Given the description of an element on the screen output the (x, y) to click on. 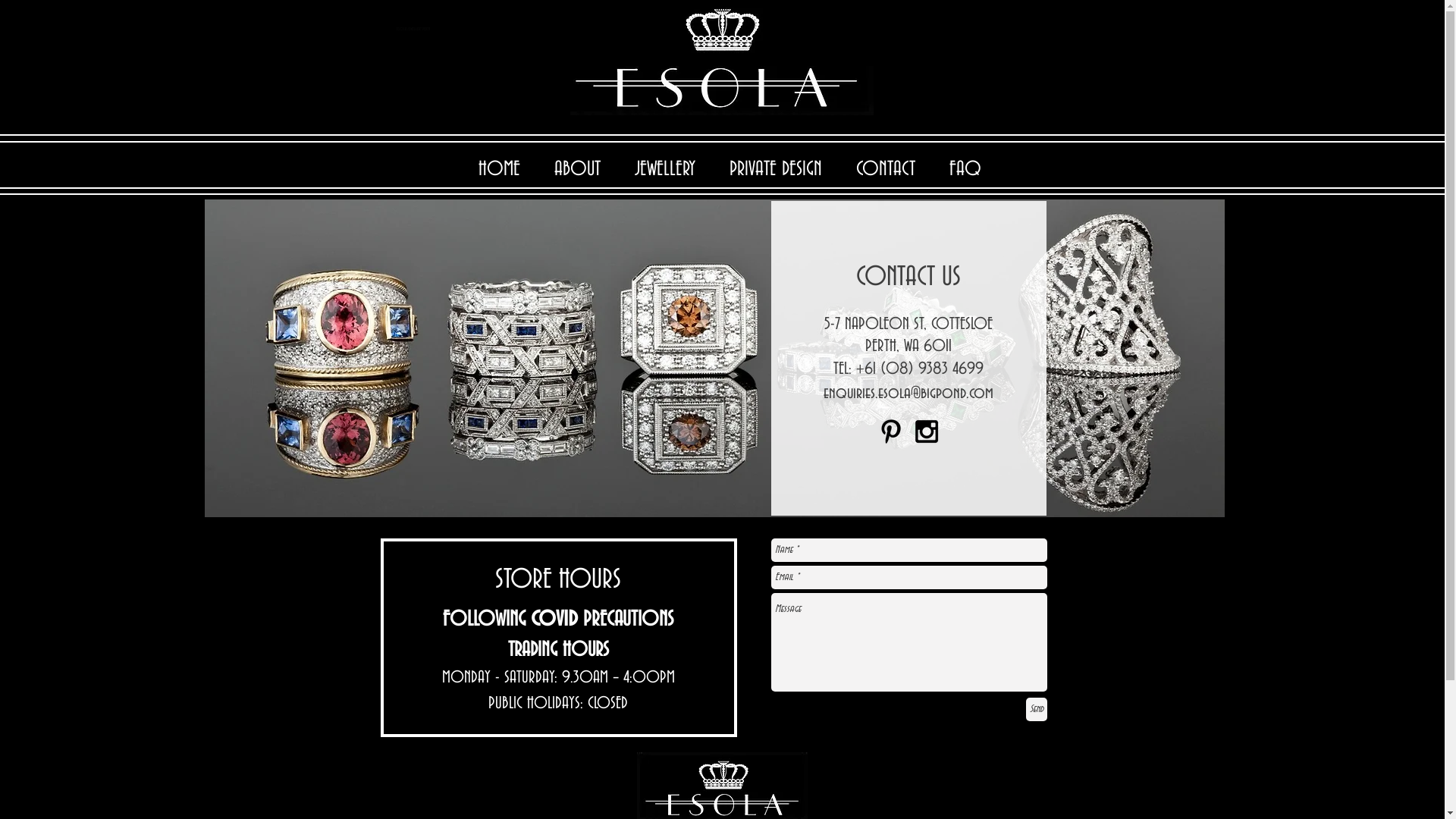
Edited Image 2016-01-20 07-25-18 Element type: hover (713, 358)
CONTACT Element type: text (884, 169)
FAQ Element type: text (965, 169)
Send Element type: text (1035, 709)
enquiries.esola@bigpond.com Element type: text (908, 393)
JEWELLERY Element type: text (664, 169)
HOME Element type: text (498, 169)
ABOUT Element type: text (576, 169)
PRIVATE DESIGN Element type: text (775, 169)
